Given the description of an element on the screen output the (x, y) to click on. 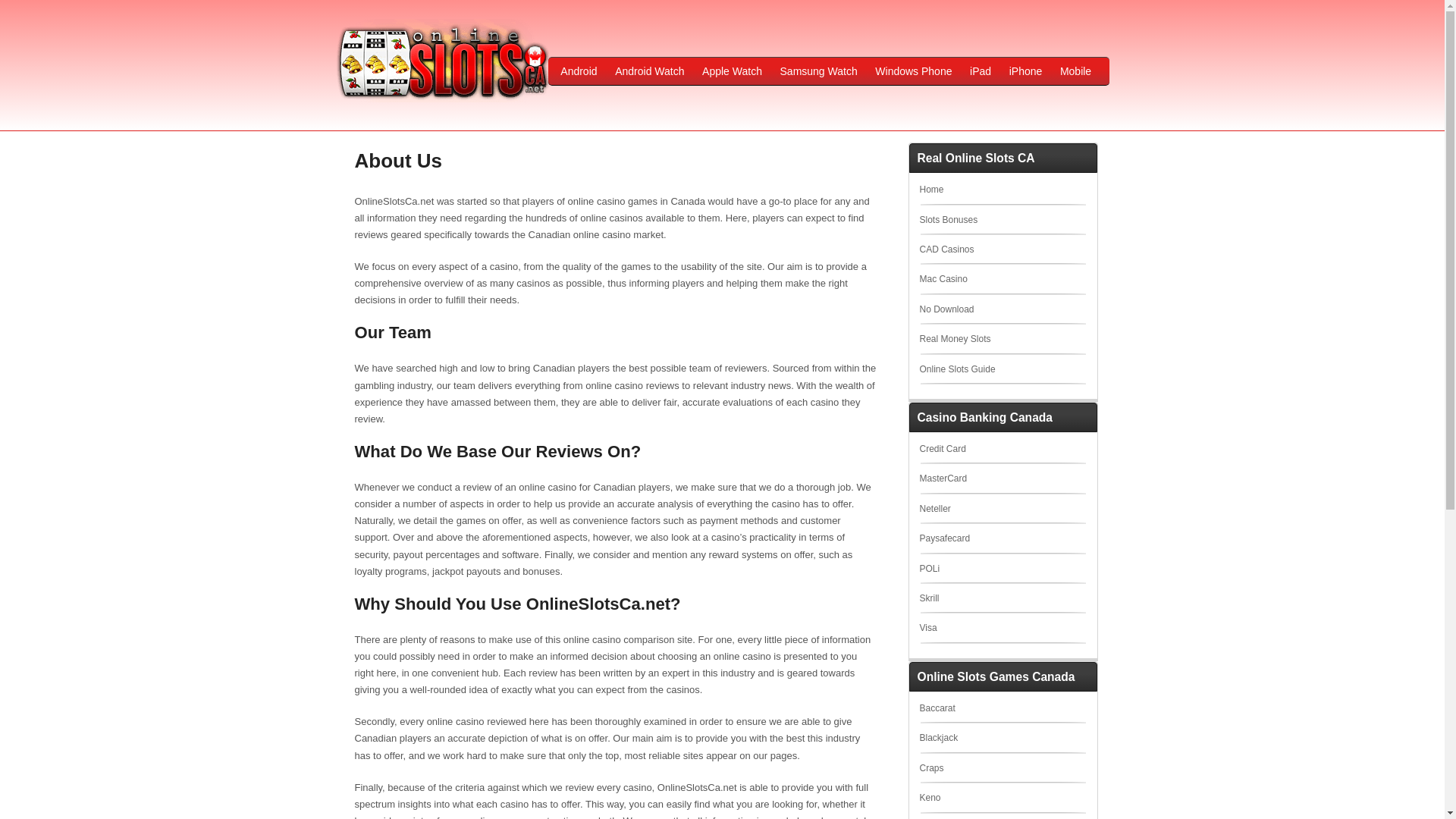
Mac Casino (942, 278)
Samsung Watch (818, 71)
Slots Bonuses (947, 219)
Mobile (1075, 71)
Real Money Slots (954, 338)
Android Watch (649, 71)
Visa (927, 627)
iPad (980, 71)
Credit Card (941, 448)
Neteller (934, 508)
